Given the description of an element on the screen output the (x, y) to click on. 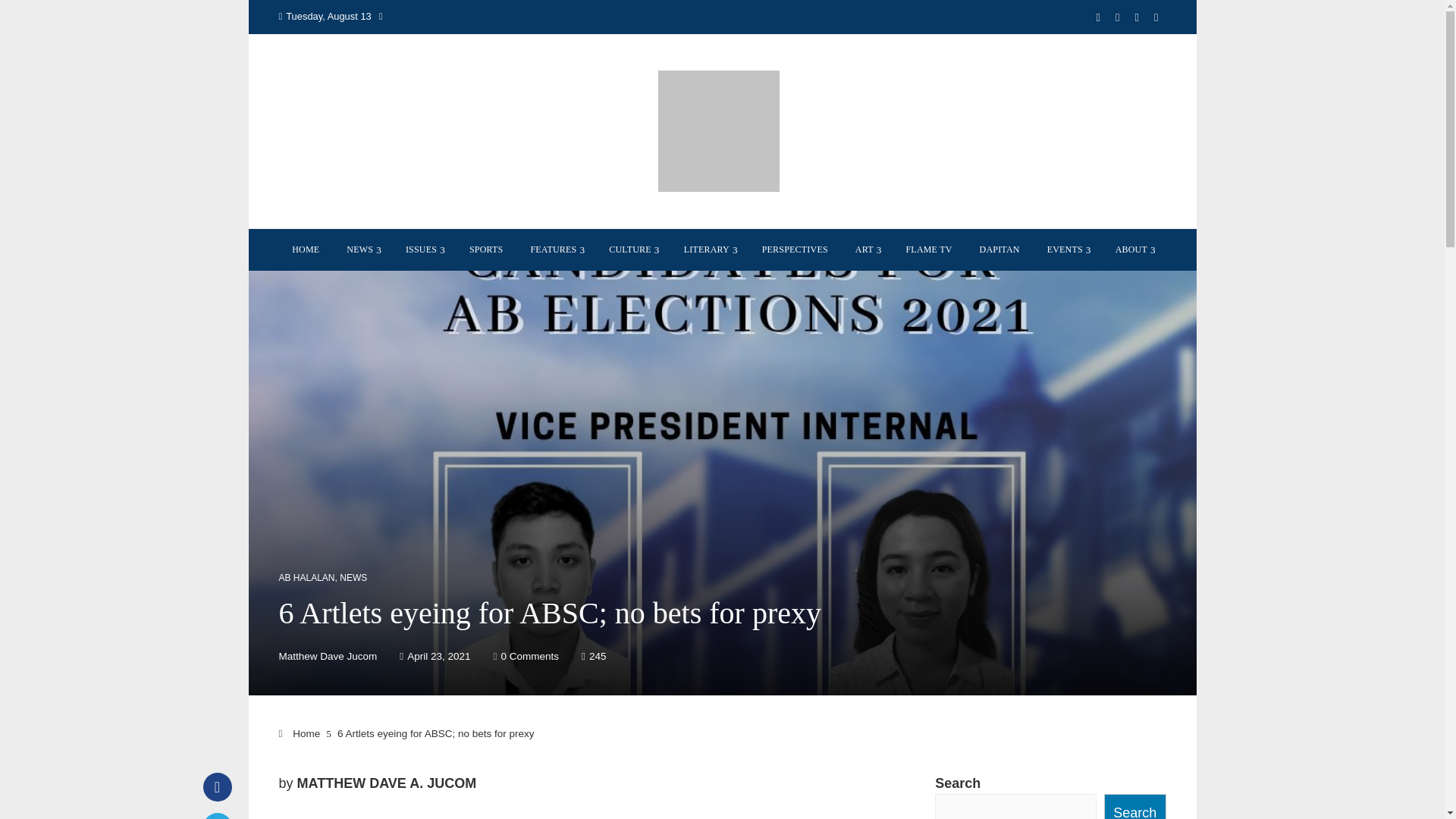
LITERARY (708, 249)
ISSUES (423, 249)
FLAME TV (927, 249)
ART (866, 249)
EVENTS (1067, 249)
HOME (305, 249)
NEWS (362, 249)
SPORTS (486, 249)
ABOUT (1133, 249)
PERSPECTIVES (795, 249)
